Given the description of an element on the screen output the (x, y) to click on. 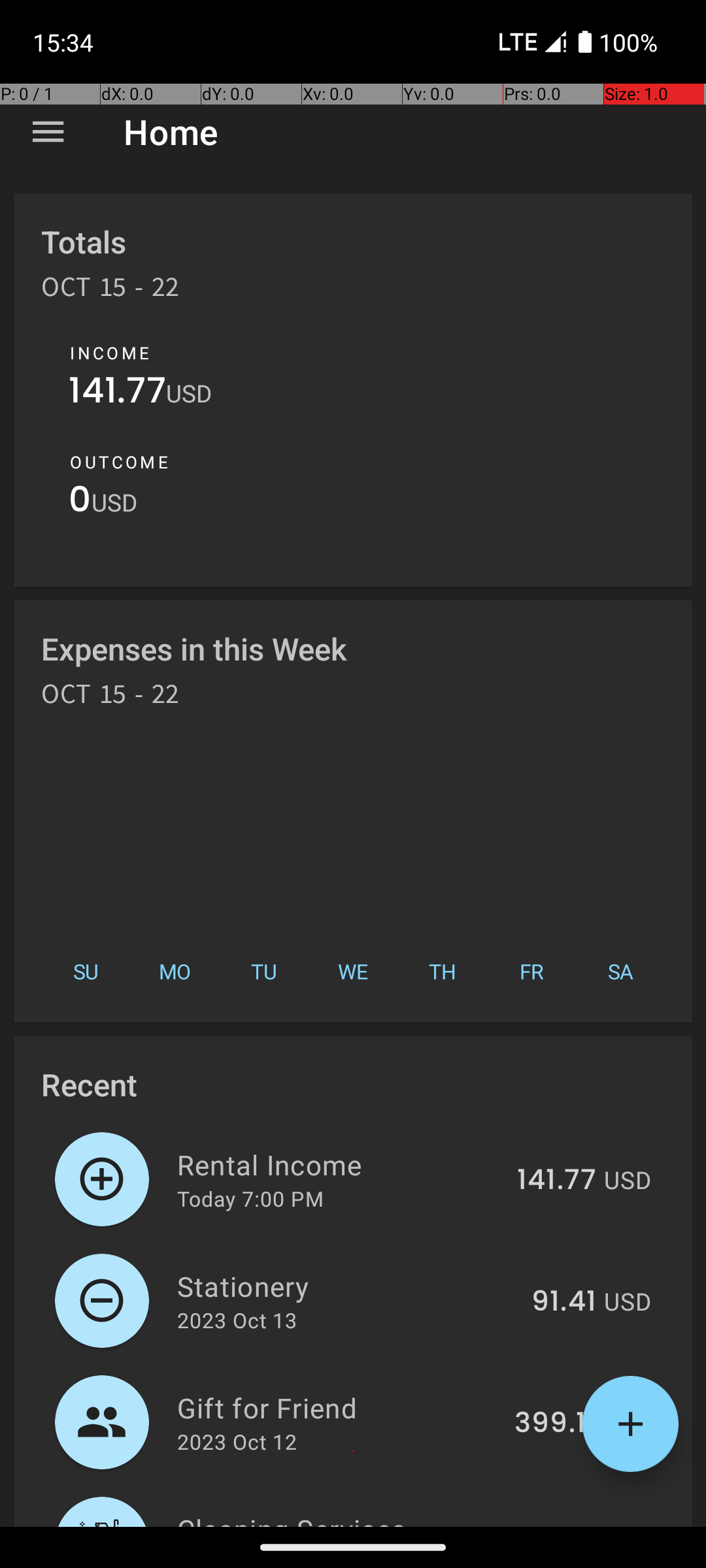
141.77 Element type: android.widget.TextView (117, 393)
Rental Income Element type: android.widget.TextView (339, 1164)
Stationery Element type: android.widget.TextView (346, 1285)
91.41 Element type: android.widget.TextView (563, 1301)
Gift for Friend Element type: android.widget.TextView (338, 1407)
399.11 Element type: android.widget.TextView (554, 1423)
Cleaning Services Element type: android.widget.TextView (341, 1518)
72.87 Element type: android.widget.TextView (558, 1524)
